Given the description of an element on the screen output the (x, y) to click on. 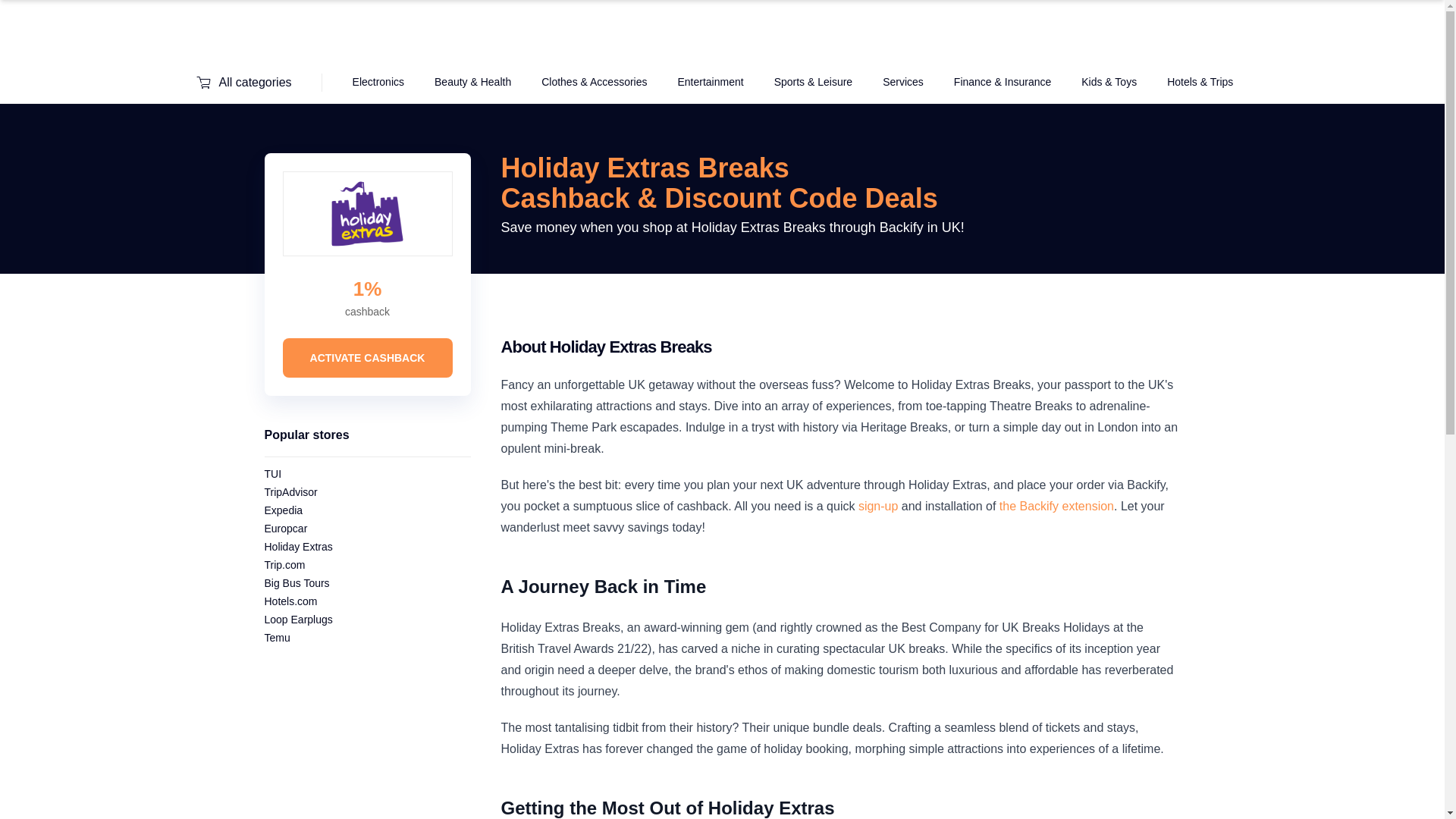
Temu (276, 637)
Big Bus Tours (296, 582)
sign-up (878, 505)
Hotels.com (290, 601)
Entertainment (709, 82)
Services (902, 82)
Trip.com (283, 564)
Europcar (285, 528)
TripAdvisor (290, 491)
Electronics (378, 82)
